Given the description of an element on the screen output the (x, y) to click on. 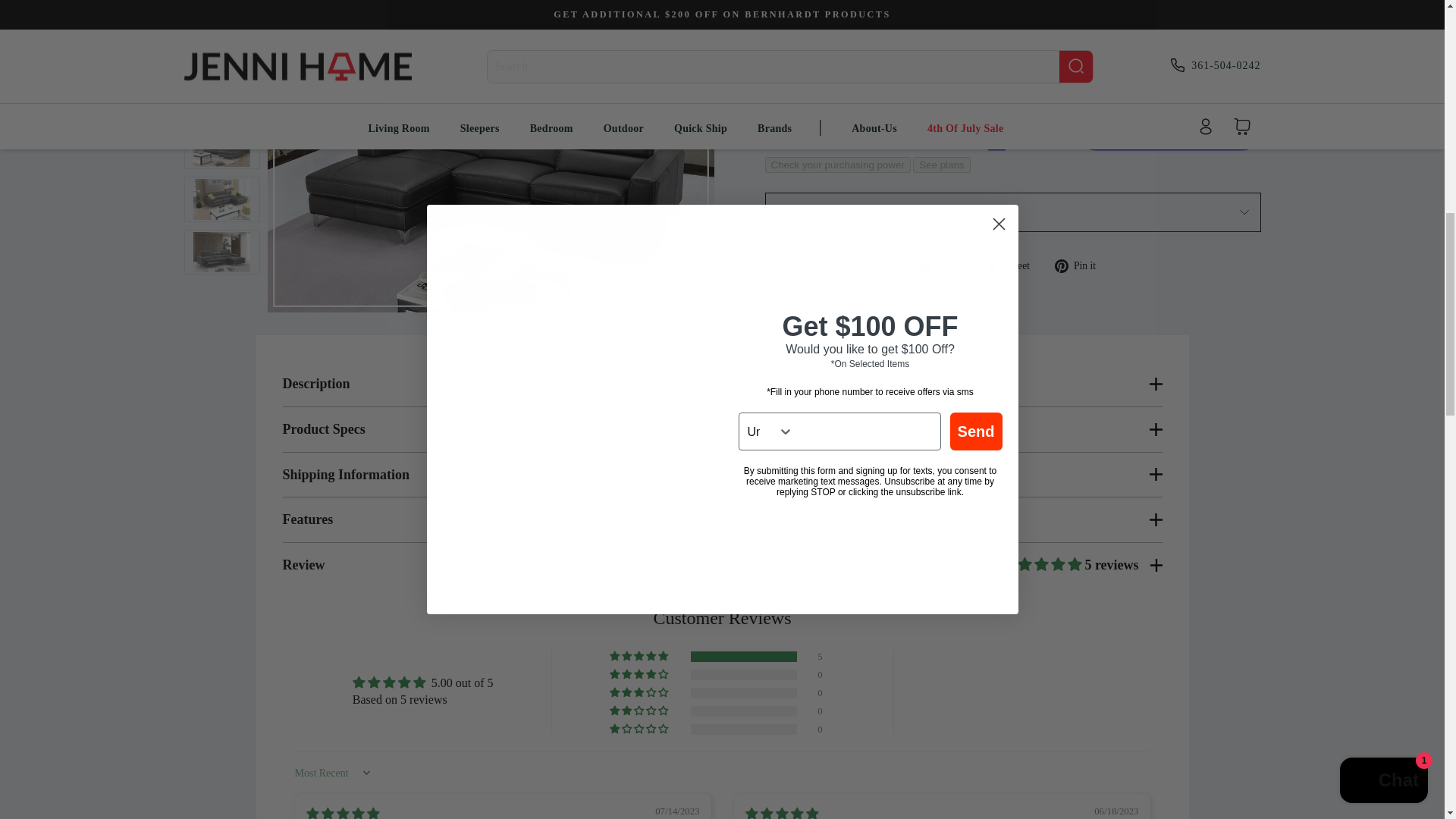
Share on Facebook (945, 264)
Pin on Pinterest (1080, 264)
Tweet on Twitter (1013, 264)
